Given the description of an element on the screen output the (x, y) to click on. 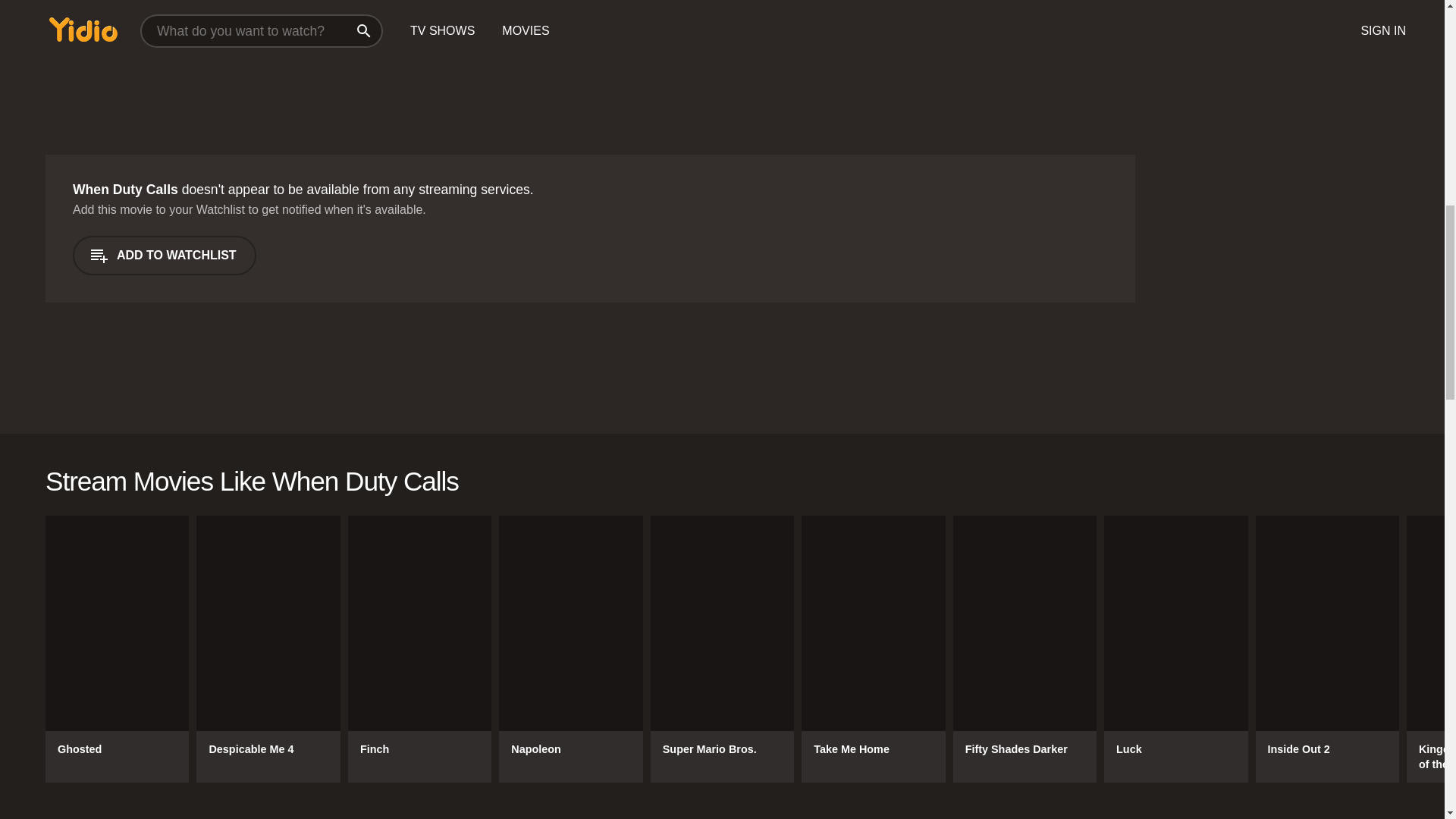
Advertisement (254, 63)
ADD TO WATCHLIST (164, 255)
